Given the description of an element on the screen output the (x, y) to click on. 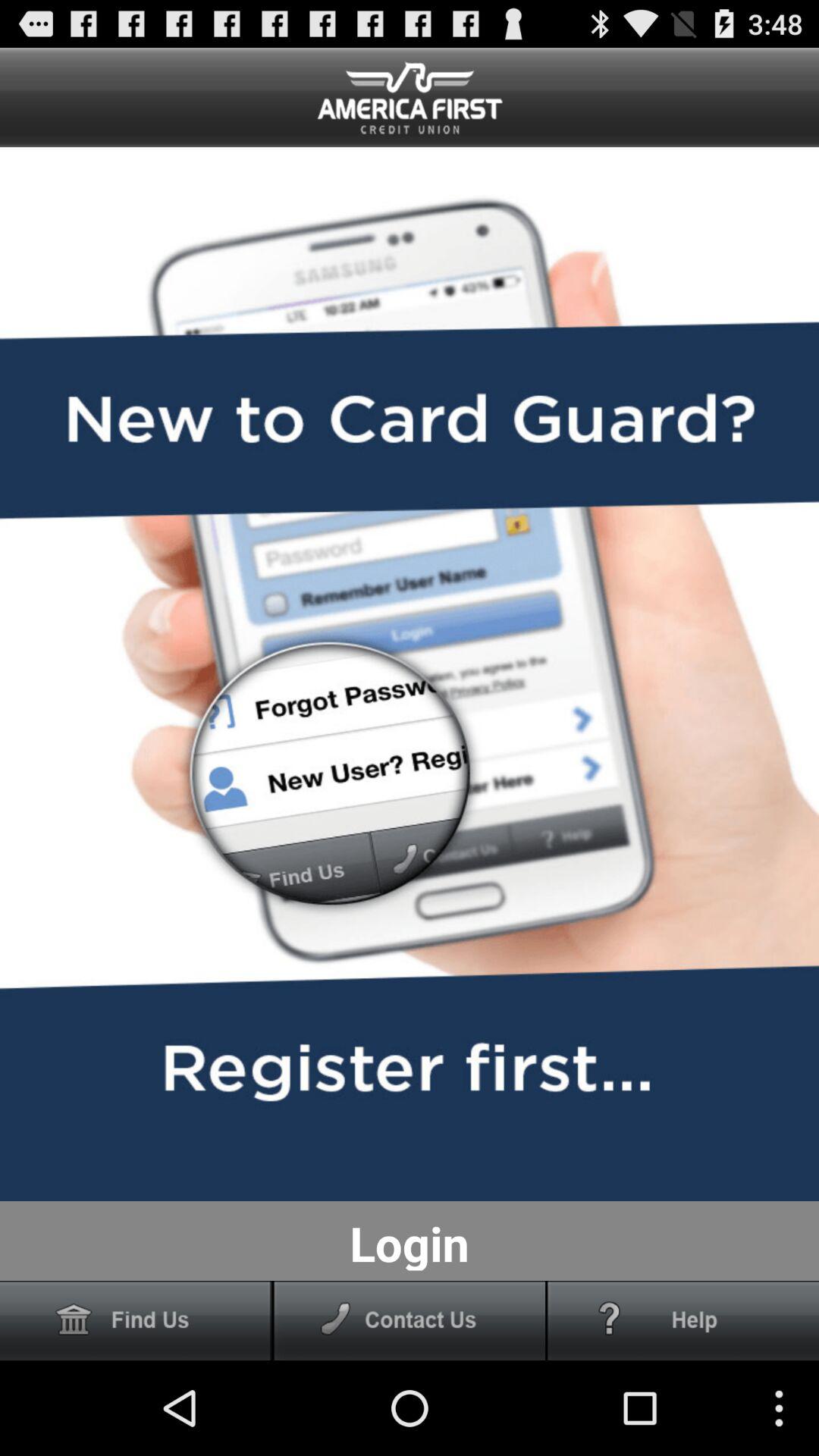
get directions (135, 1320)
